Given the description of an element on the screen output the (x, y) to click on. 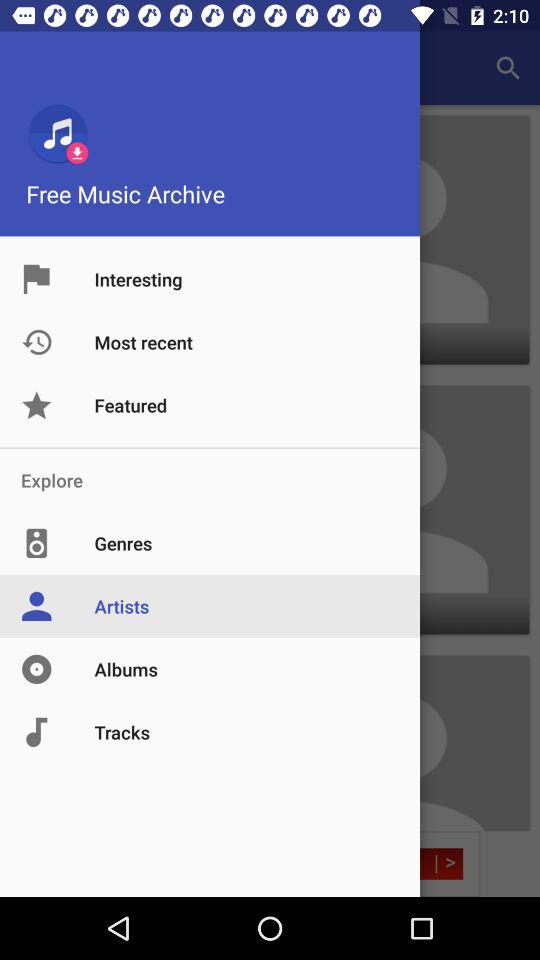
click on the image option to the left of the text interesting (58, 279)
go to music icon (57, 133)
